Given the description of an element on the screen output the (x, y) to click on. 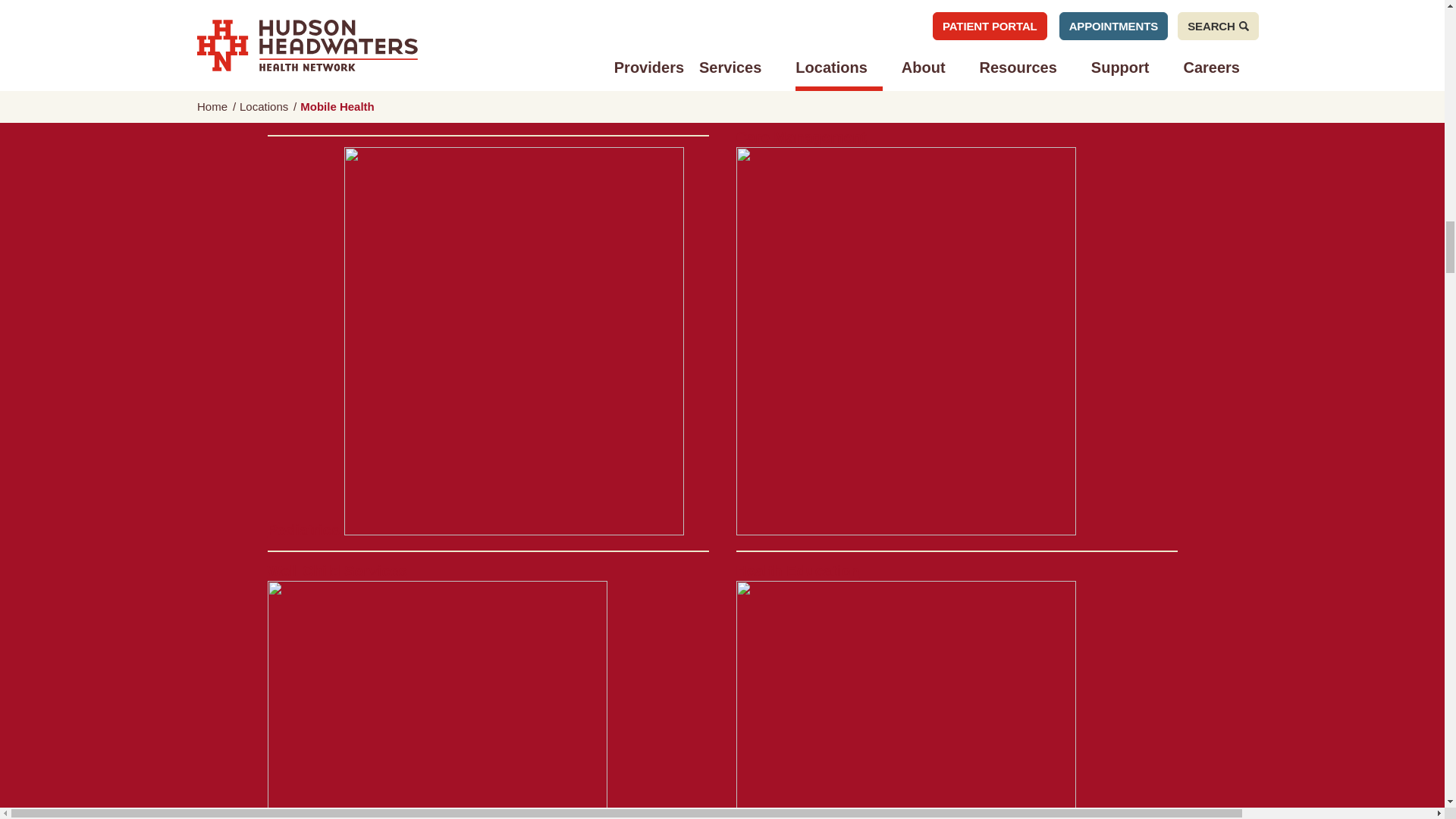
Family Medicine (436, 61)
Well Child Services (436, 690)
Gynecology (950, 95)
Pediatrics (474, 529)
Health Education (905, 690)
